Given the description of an element on the screen output the (x, y) to click on. 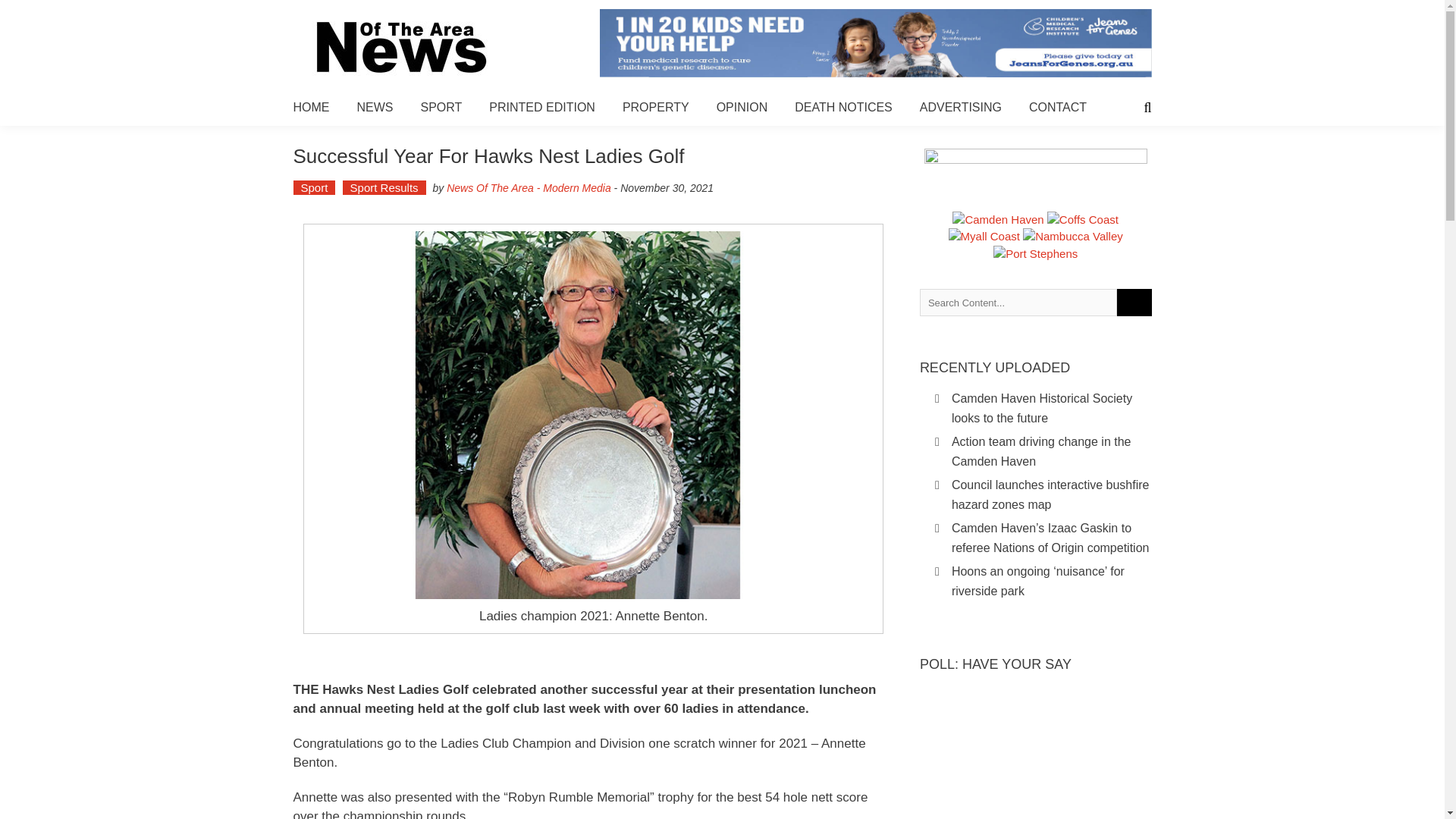
PROPERTY (655, 106)
NEWS (374, 106)
Skip to content (37, 8)
HOME (310, 106)
SPORT (440, 106)
PRINTED EDITION (542, 106)
Search for: (1018, 302)
